Given the description of an element on the screen output the (x, y) to click on. 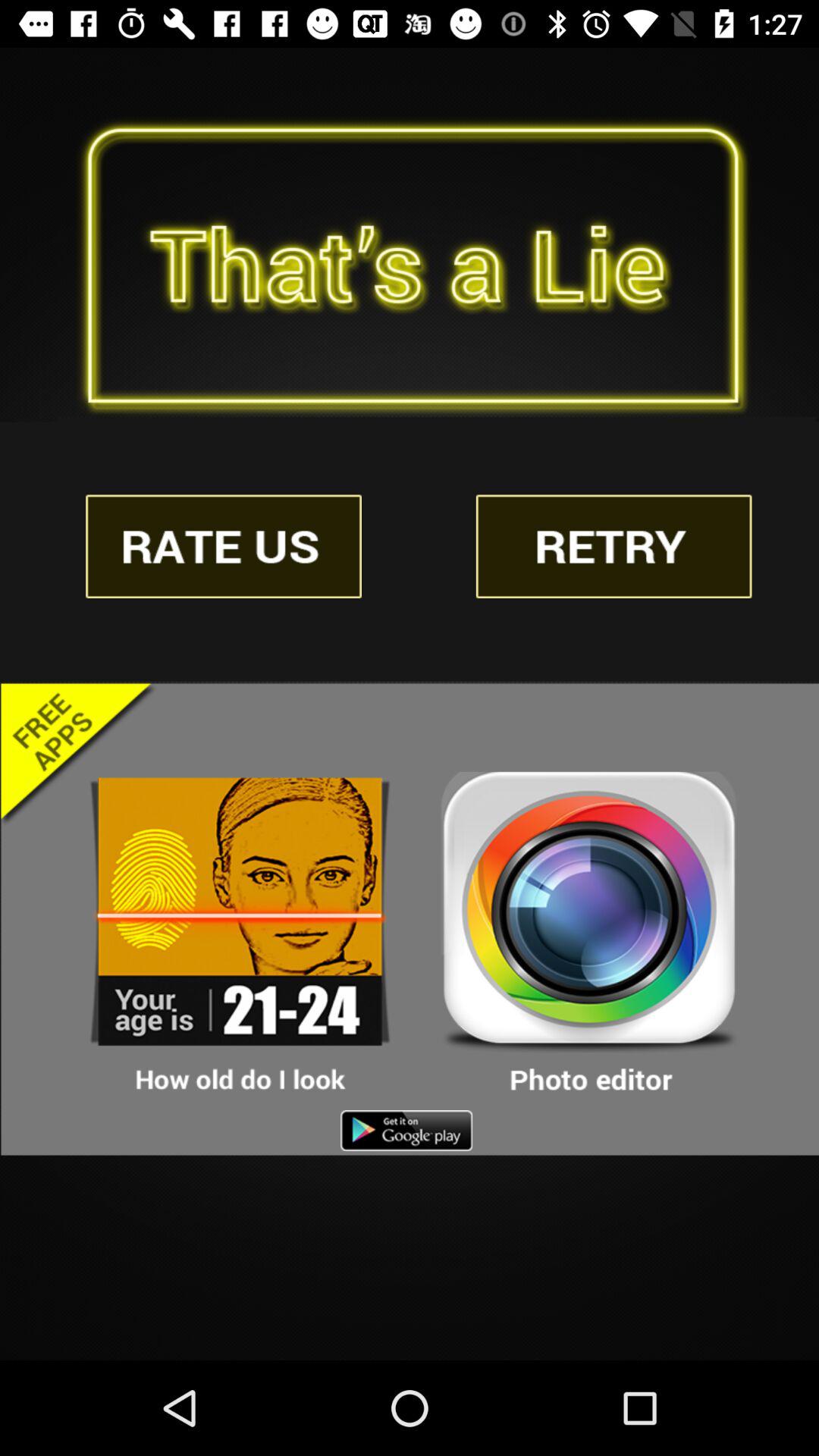
download the 'how old do i look app (240, 933)
